Given the description of an element on the screen output the (x, y) to click on. 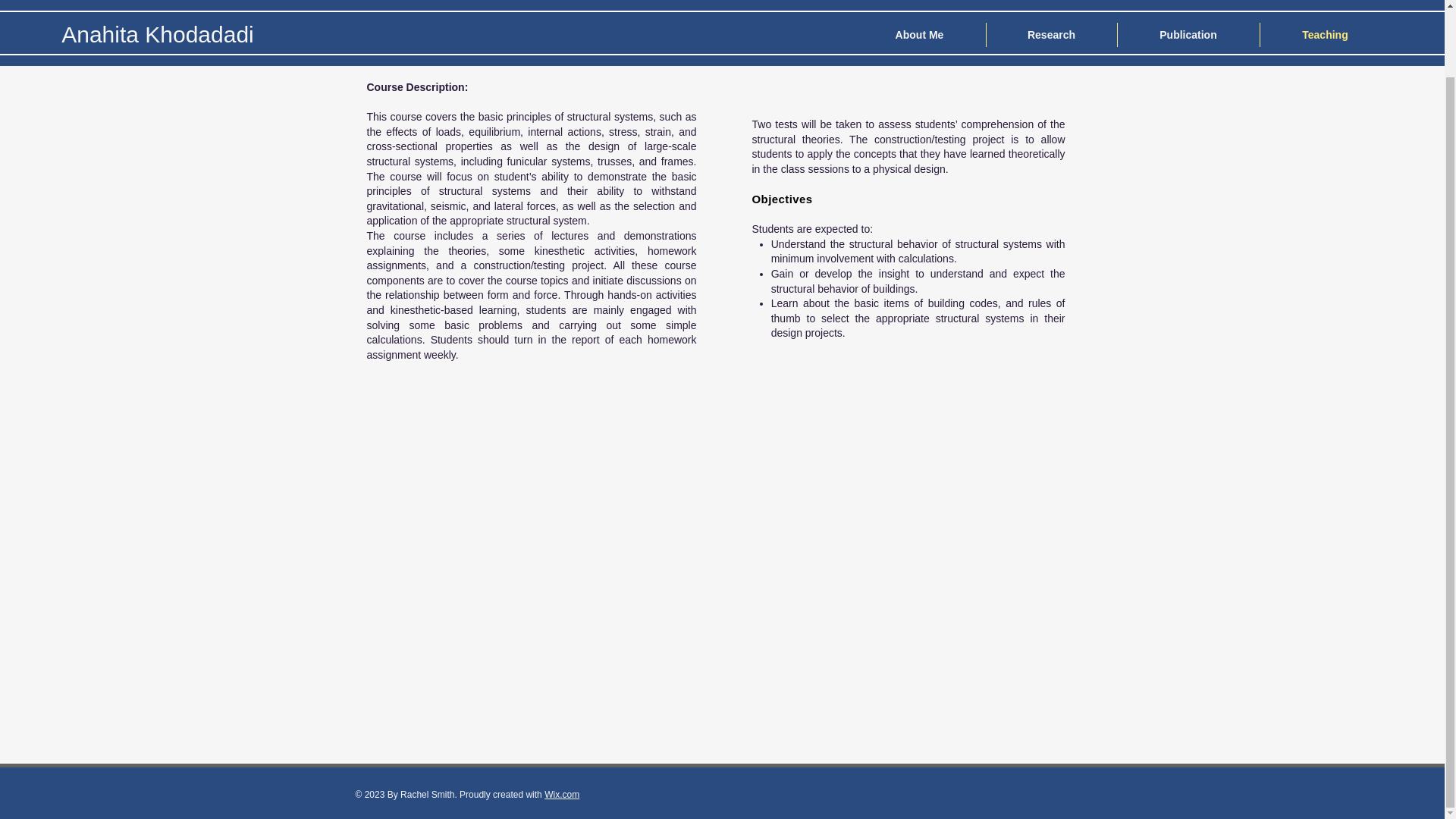
Wix.com (561, 794)
